Given the description of an element on the screen output the (x, y) to click on. 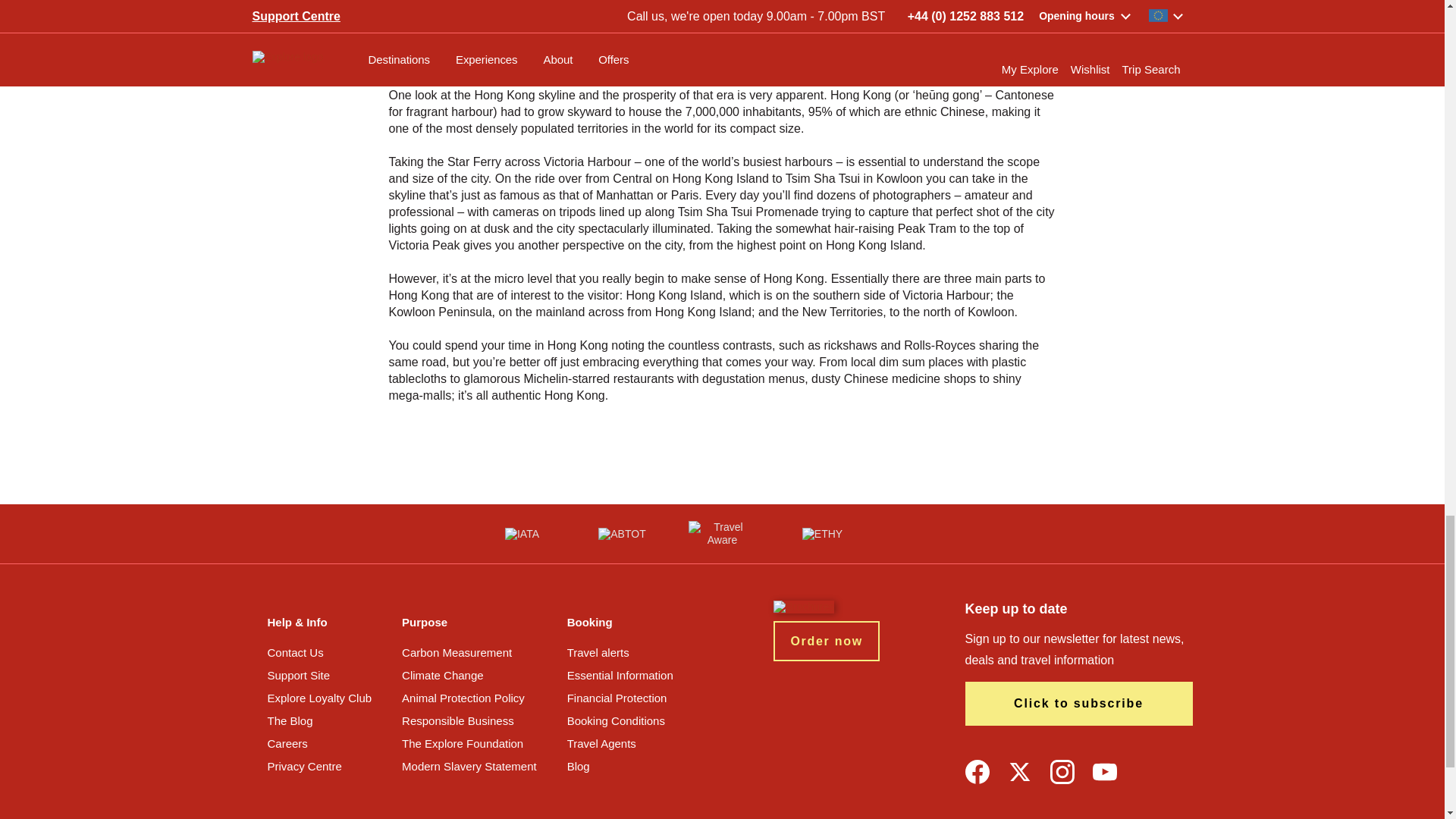
Facebook (975, 771)
YouTube (1104, 771)
Twitter (1018, 771)
Instagram (1061, 771)
